Given the description of an element on the screen output the (x, y) to click on. 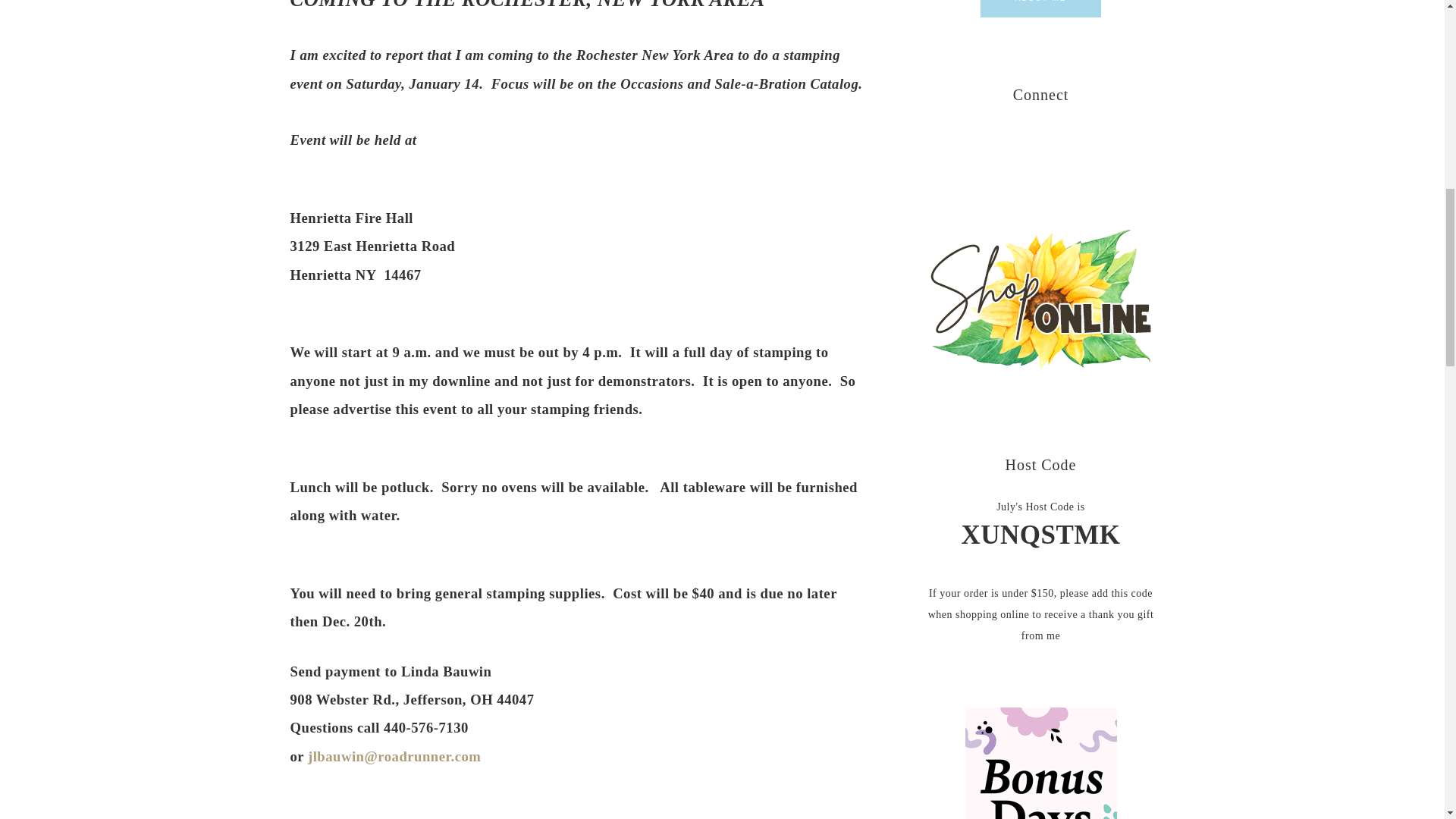
ABOUT ME (1039, 8)
